Given the description of an element on the screen output the (x, y) to click on. 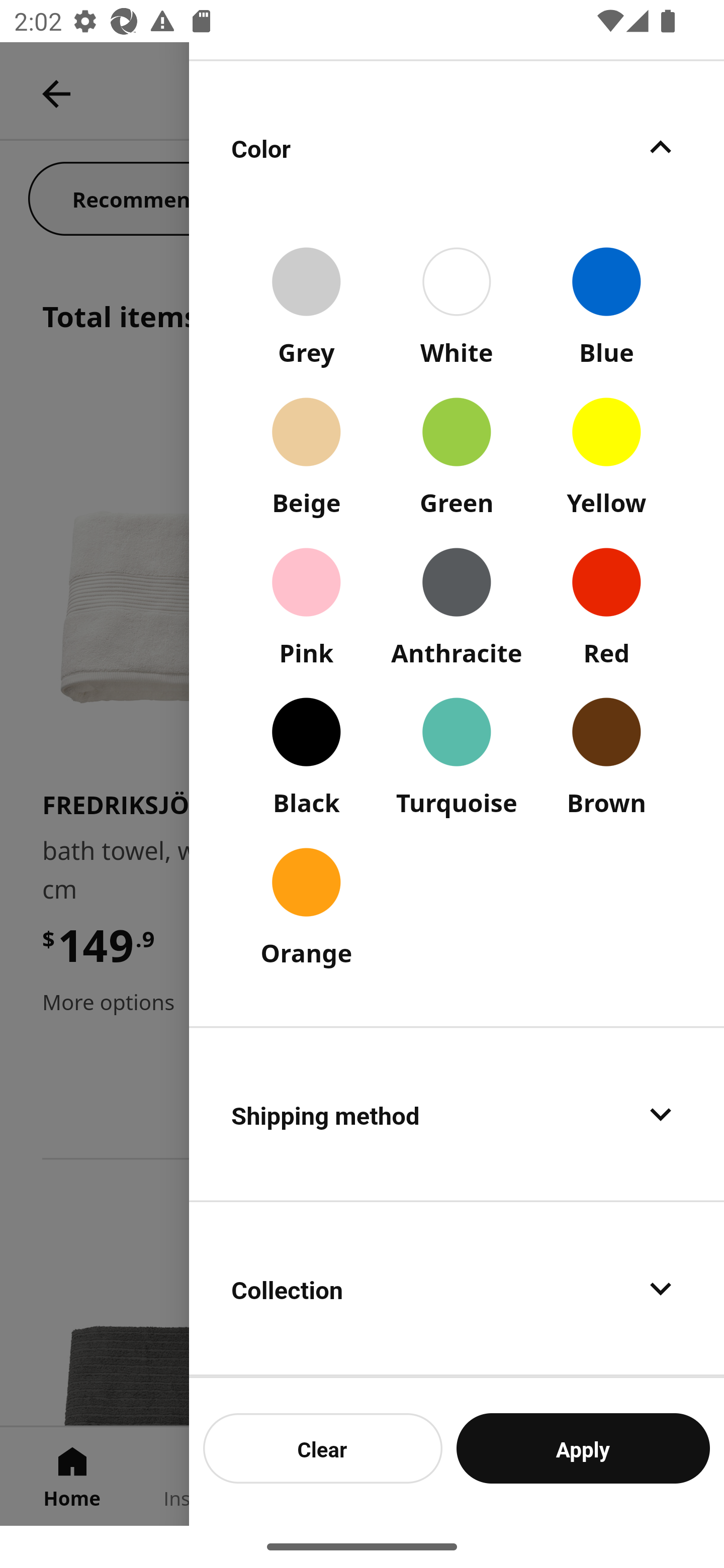
Color (456, 147)
Shipping method (456, 1113)
Collection (456, 1288)
Clear (322, 1447)
Apply (583, 1447)
